Given the description of an element on the screen output the (x, y) to click on. 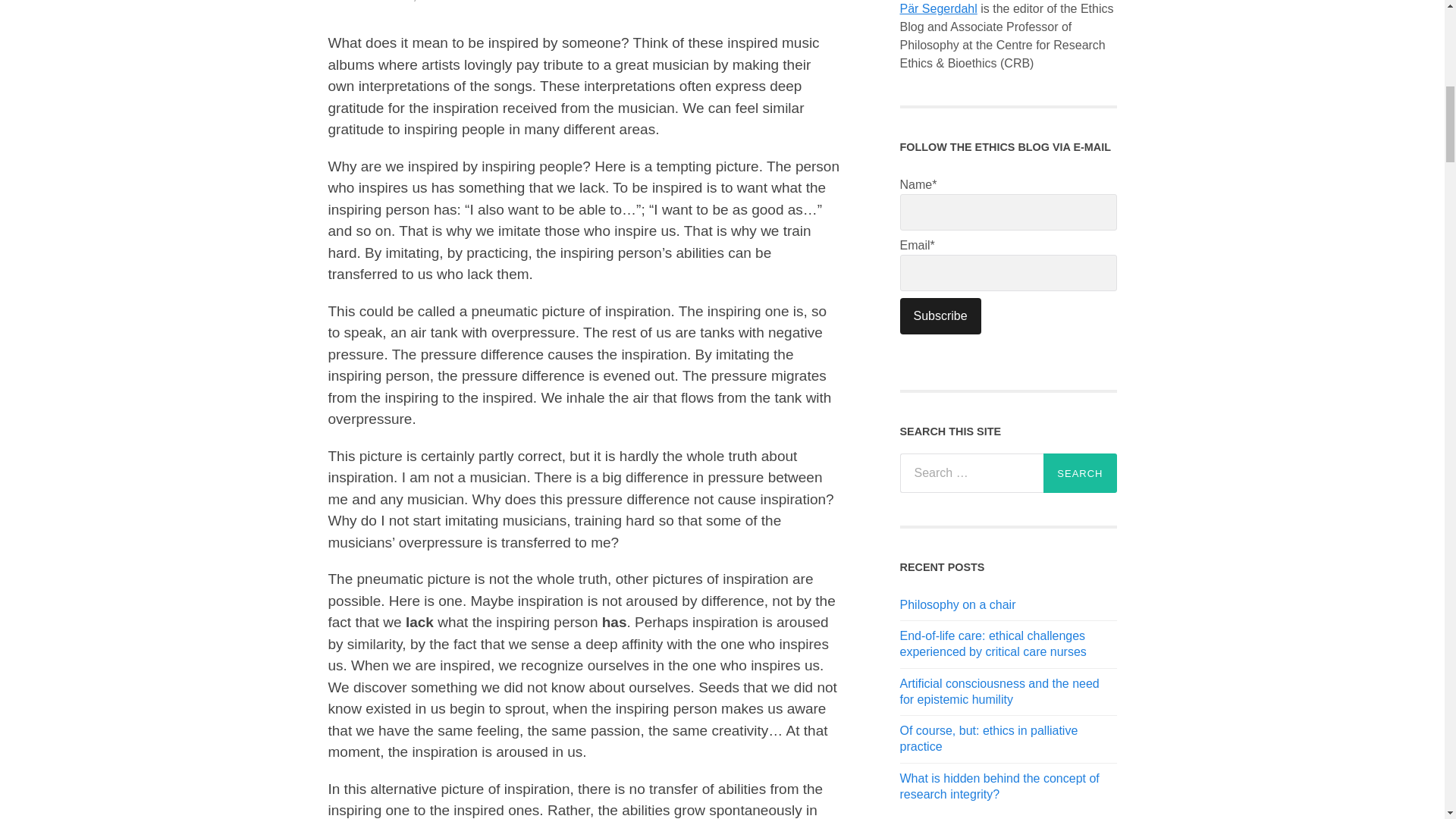
Subscribe (939, 316)
Search (1079, 473)
1 COMMENT (624, 1)
21 DECEMBER, 2021 (387, 1)
Search (1079, 473)
